Given the description of an element on the screen output the (x, y) to click on. 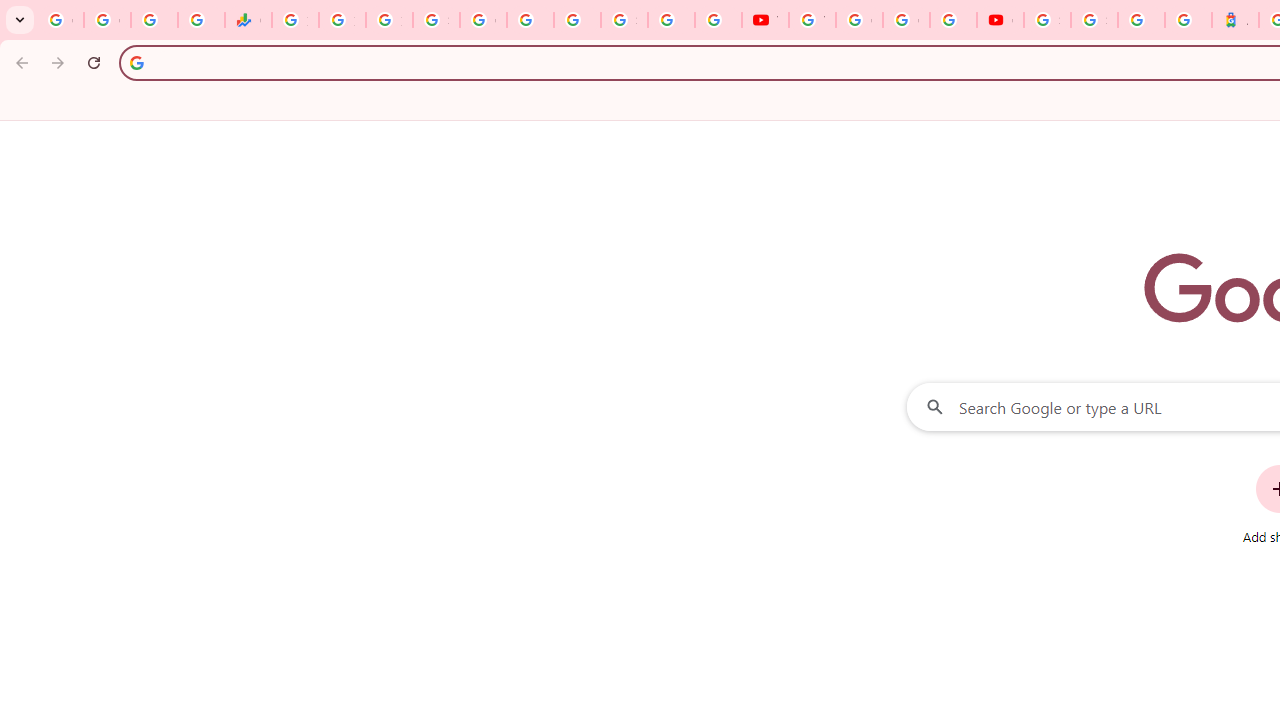
Privacy Checkup (718, 20)
Google Workspace Admin Community (60, 20)
Atour Hotel - Google hotels (1235, 20)
